Given the description of an element on the screen output the (x, y) to click on. 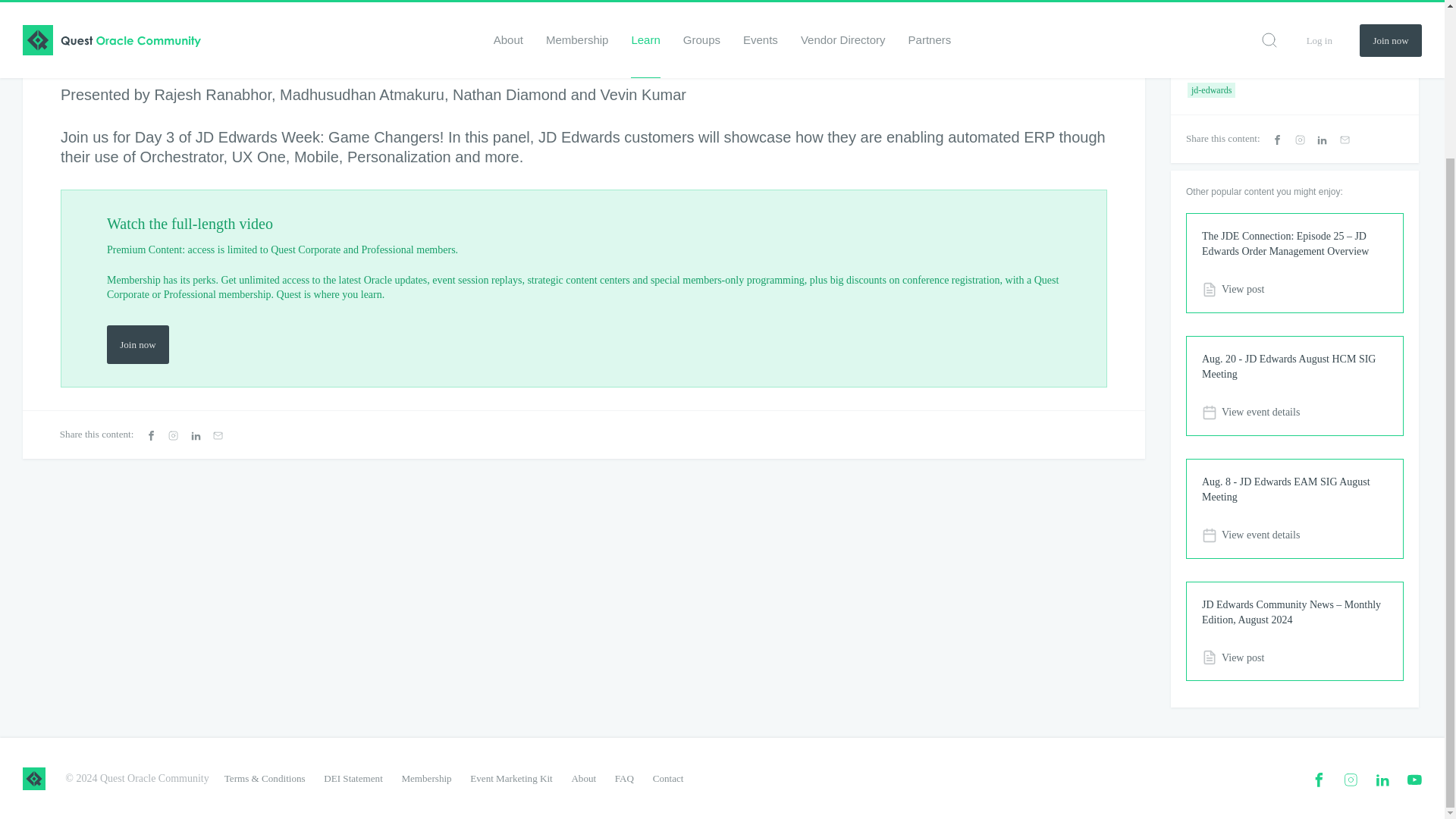
youtube (1414, 780)
Join now (137, 344)
Quest Customer Learning Team (68, 30)
Quest Oracle Community (34, 778)
Share (355, 31)
jd-edwards (1211, 89)
JD Edwards (1211, 1)
